Given the description of an element on the screen output the (x, y) to click on. 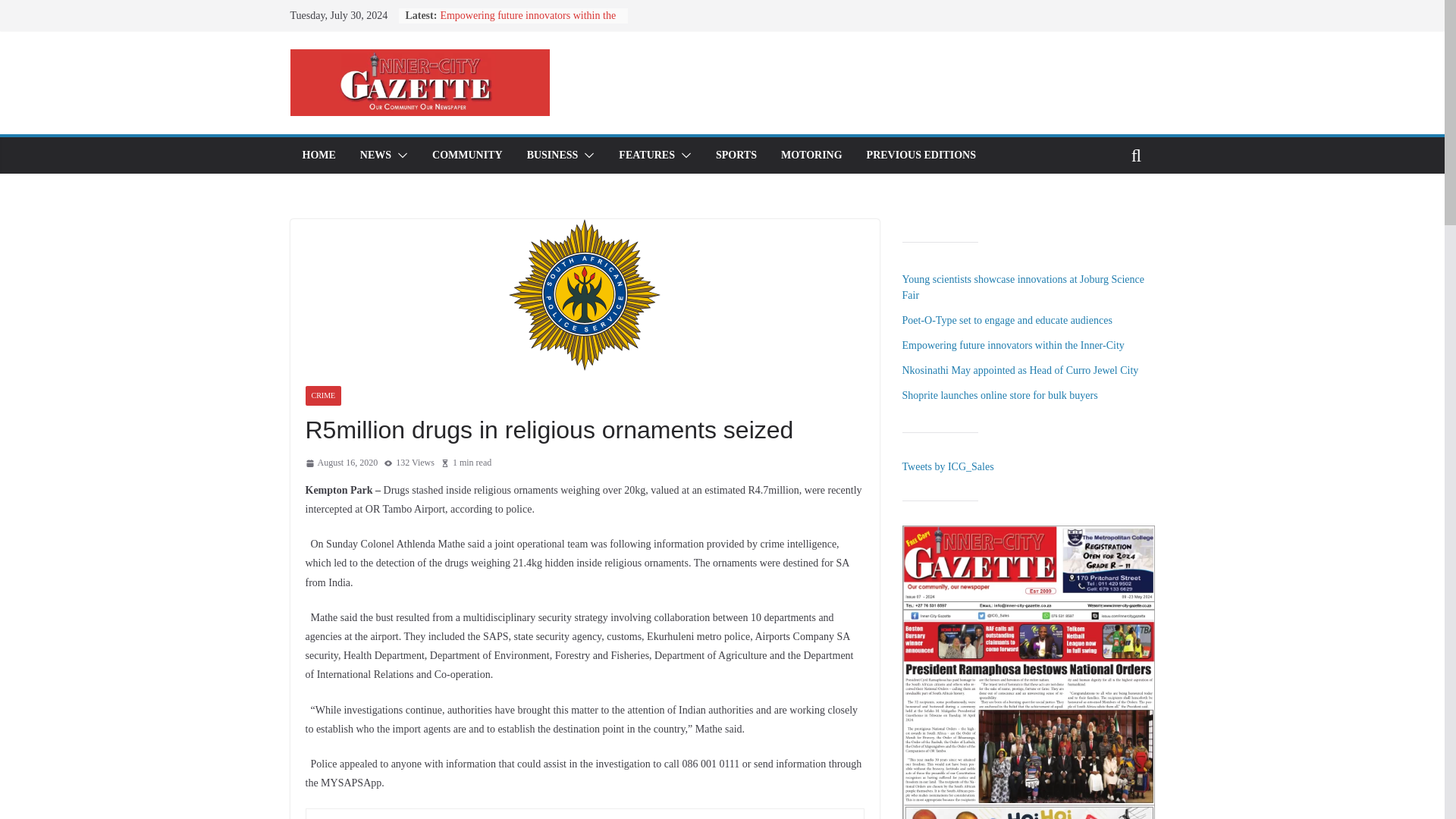
Empowering future innovators within the Inner-City (527, 22)
PREVIOUS EDITIONS (920, 155)
BUSINESS (552, 155)
COMMUNITY (467, 155)
MOTORING (811, 155)
SPORTS (736, 155)
Empowering future innovators within the Inner-City (527, 22)
CRIME (322, 395)
HOME (317, 155)
NEWS (375, 155)
FEATURES (646, 155)
9:01 pm (340, 463)
August 16, 2020 (340, 463)
